Given the description of an element on the screen output the (x, y) to click on. 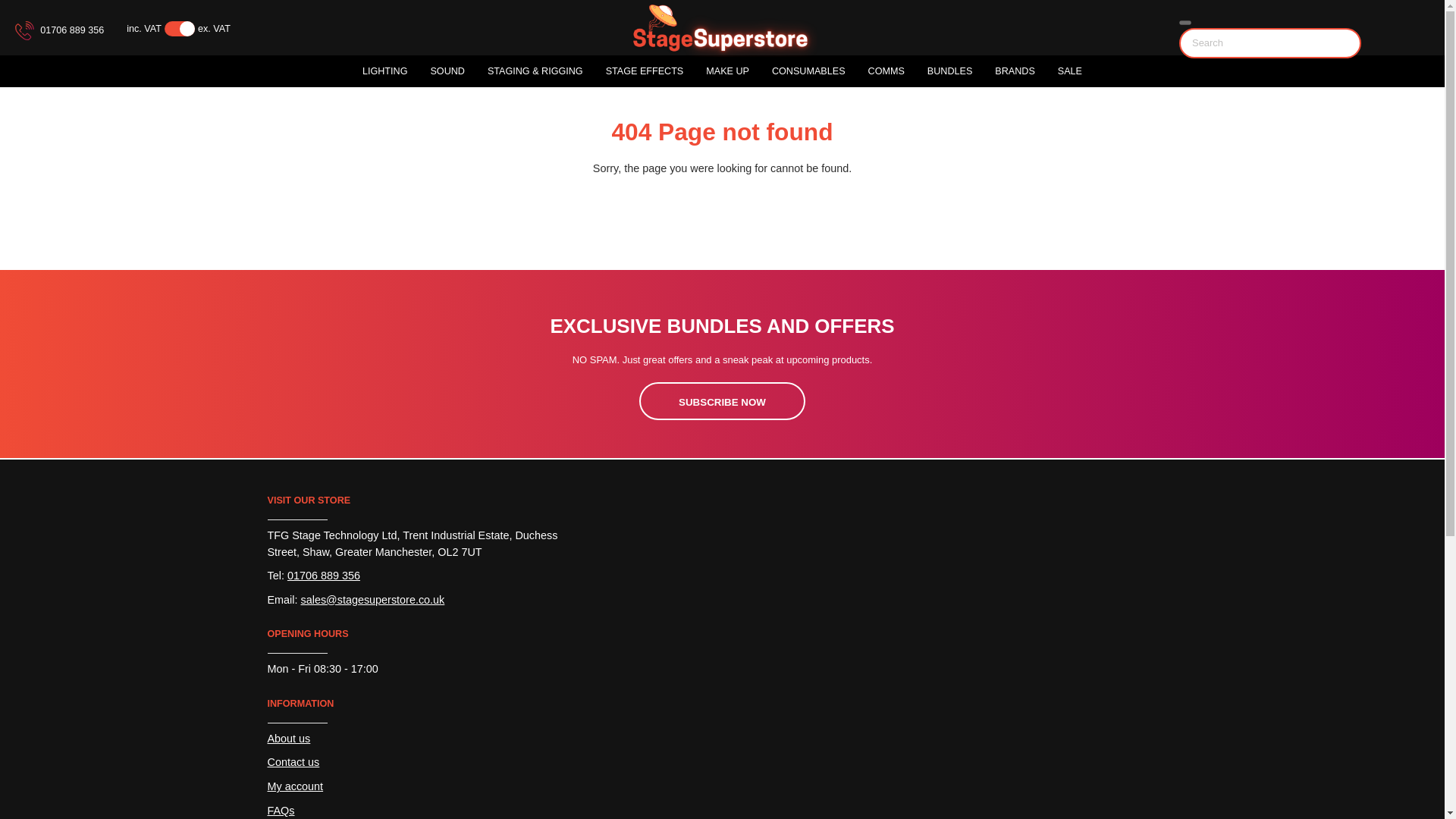
01706 889 356 (58, 29)
Call Stage Superstore (58, 29)
SOUND (446, 70)
LIGHTING (384, 70)
